Given the description of an element on the screen output the (x, y) to click on. 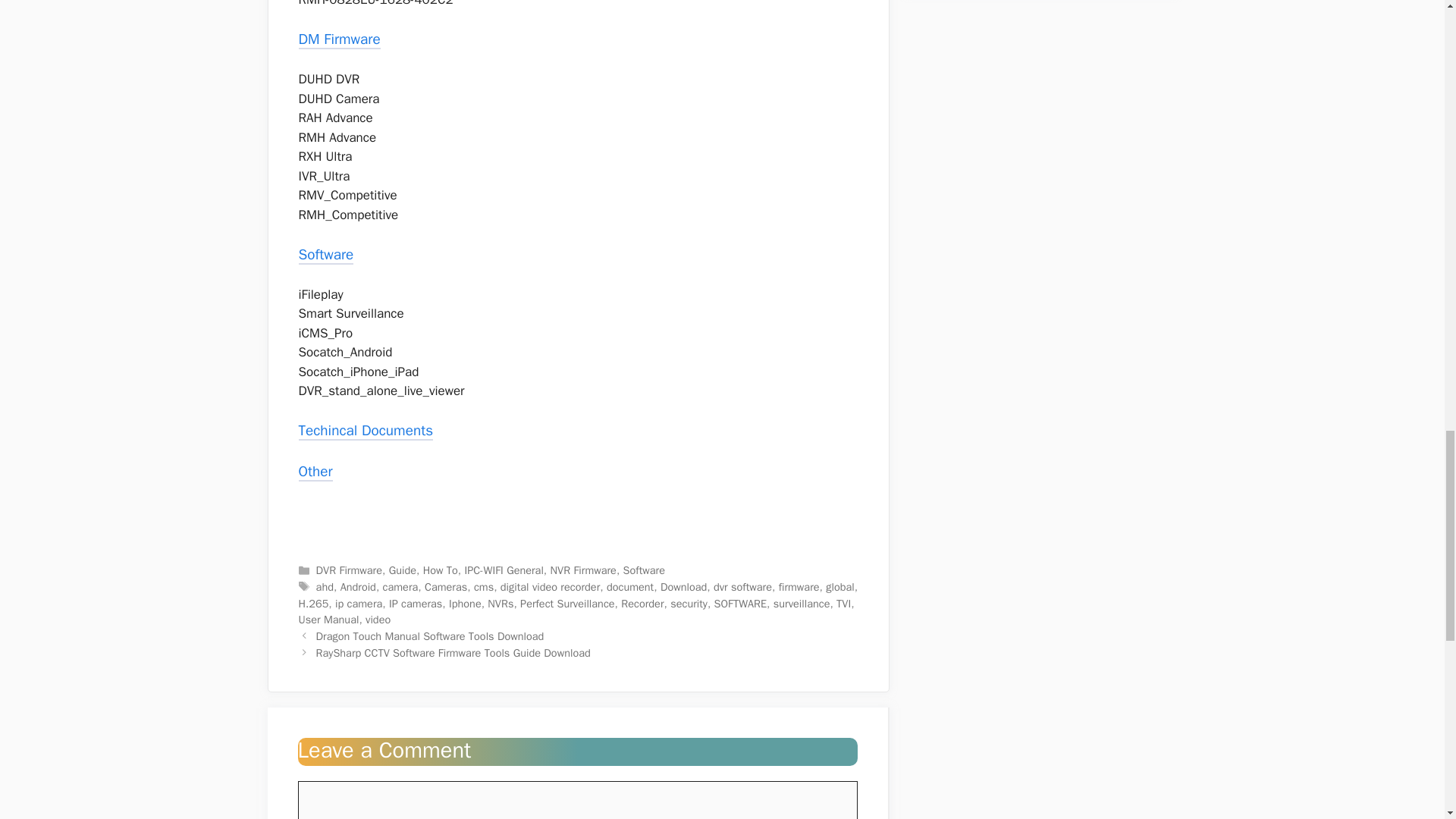
How To (440, 570)
dvr software (742, 586)
cms (483, 586)
global (839, 586)
Techincal Documents (365, 431)
Android (357, 586)
document (630, 586)
ahd (324, 586)
IPC-WIFI General (503, 570)
digital video recorder (549, 586)
Other (315, 472)
Software (325, 255)
NVR Firmware (582, 570)
Software (644, 570)
Guide (402, 570)
